Given the description of an element on the screen output the (x, y) to click on. 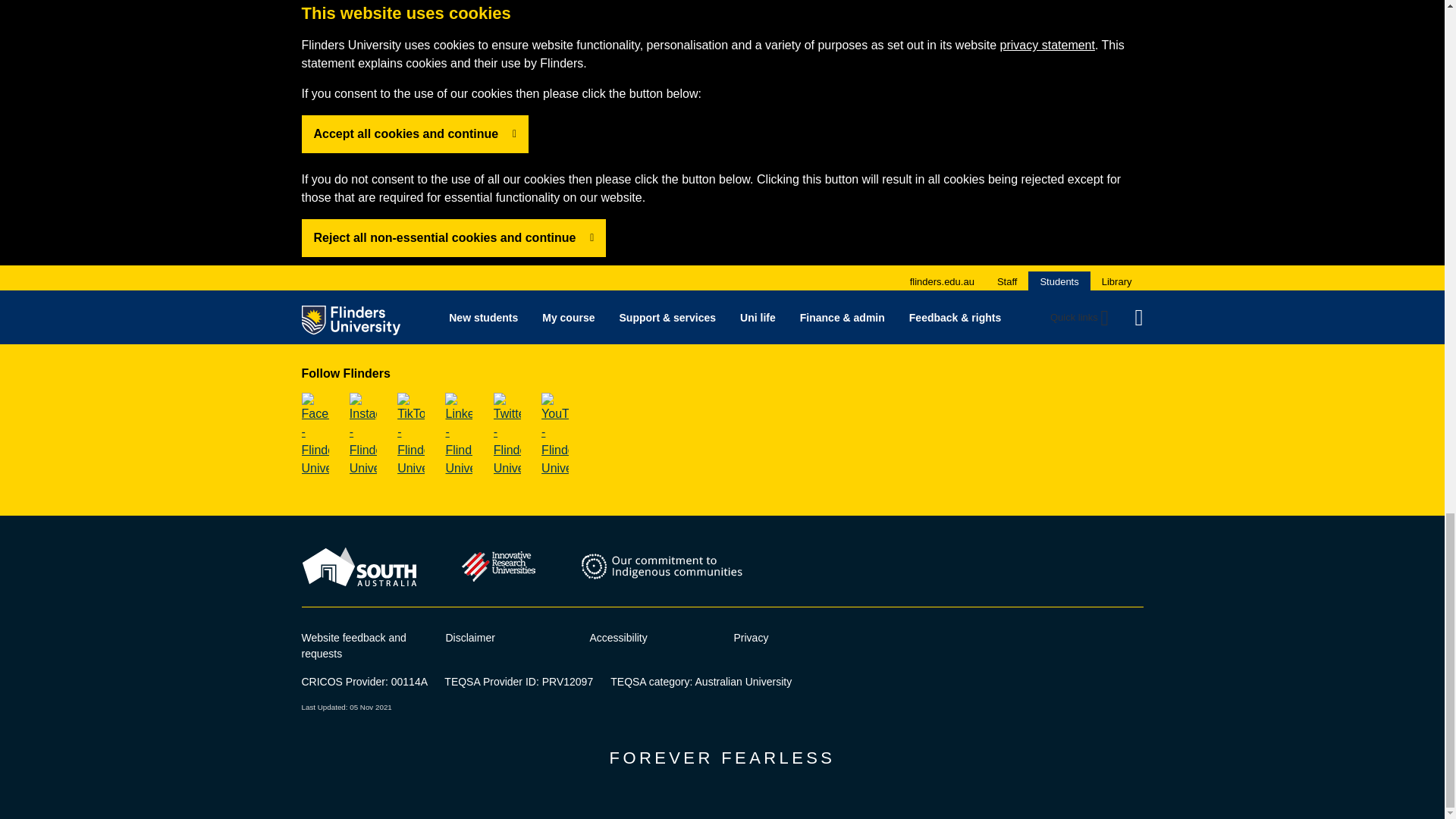
Accessibility (618, 637)
Copyright and disclaimer (470, 637)
Privacy (750, 637)
